Given the description of an element on the screen output the (x, y) to click on. 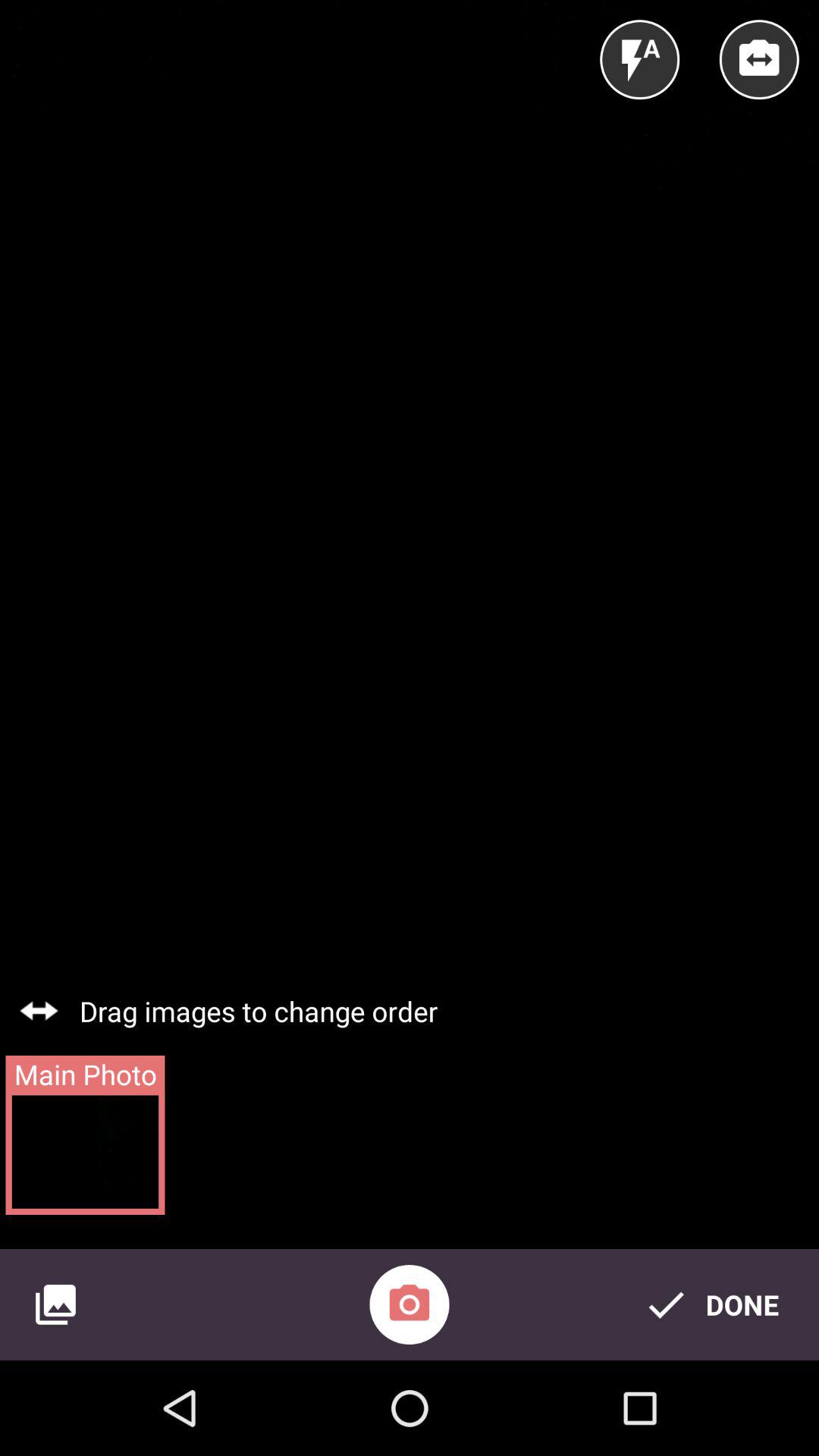
launch icon at the center (409, 680)
